Given the description of an element on the screen output the (x, y) to click on. 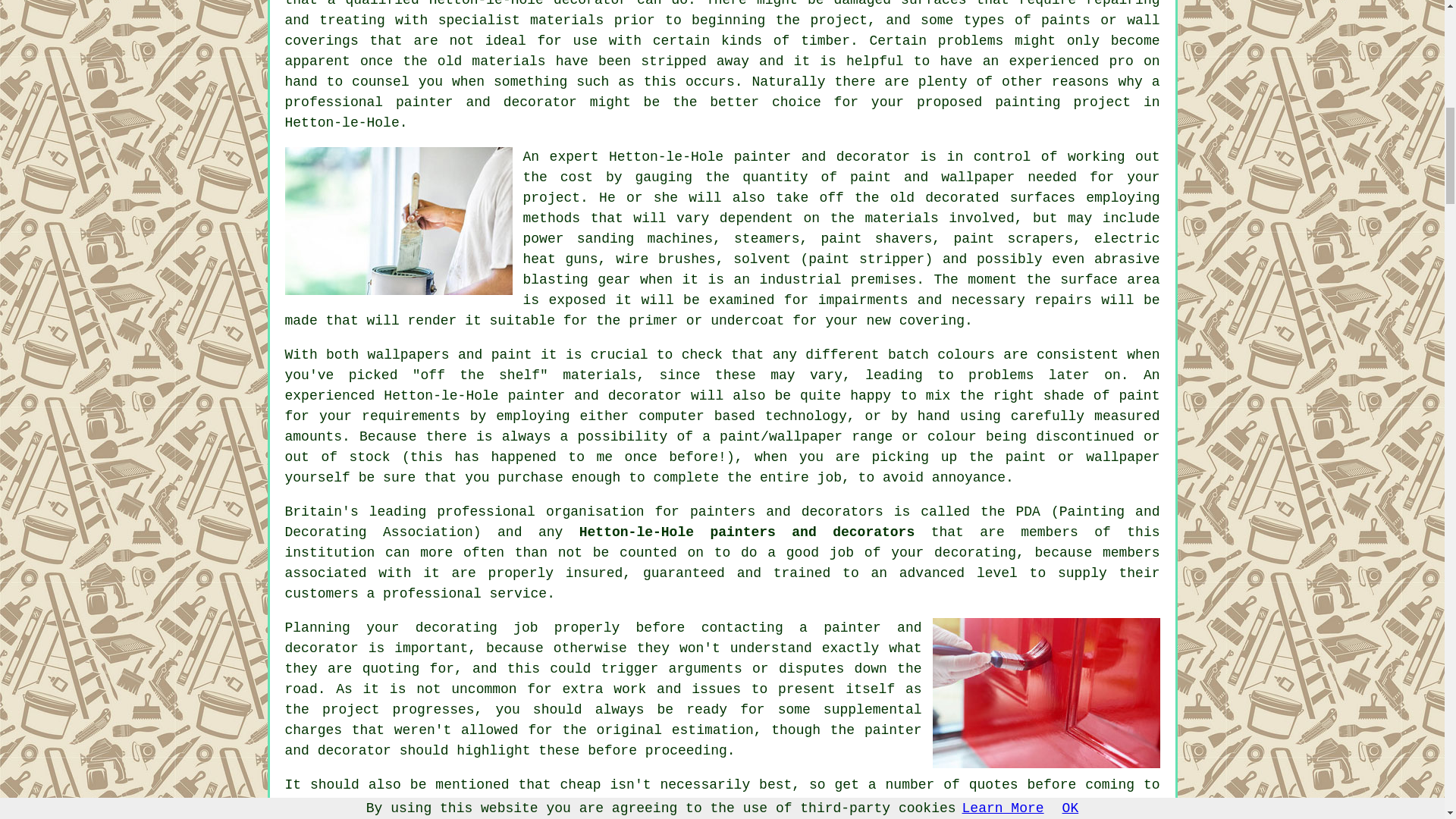
Hetton-le-Hole painters and decorators (746, 531)
paint (1138, 395)
an industrial (787, 279)
repairs (1062, 299)
Painter and Decorator Services Hetton-le-Hole (398, 220)
paint shavers (876, 238)
painter and decorator (594, 395)
materials (901, 218)
painter and decorator (821, 156)
painters and decorators (786, 511)
wire brushes (665, 258)
treating (351, 20)
painter and decorator (486, 102)
in Hetton-le-Hole (722, 112)
abrasive blasting (841, 269)
